Given the description of an element on the screen output the (x, y) to click on. 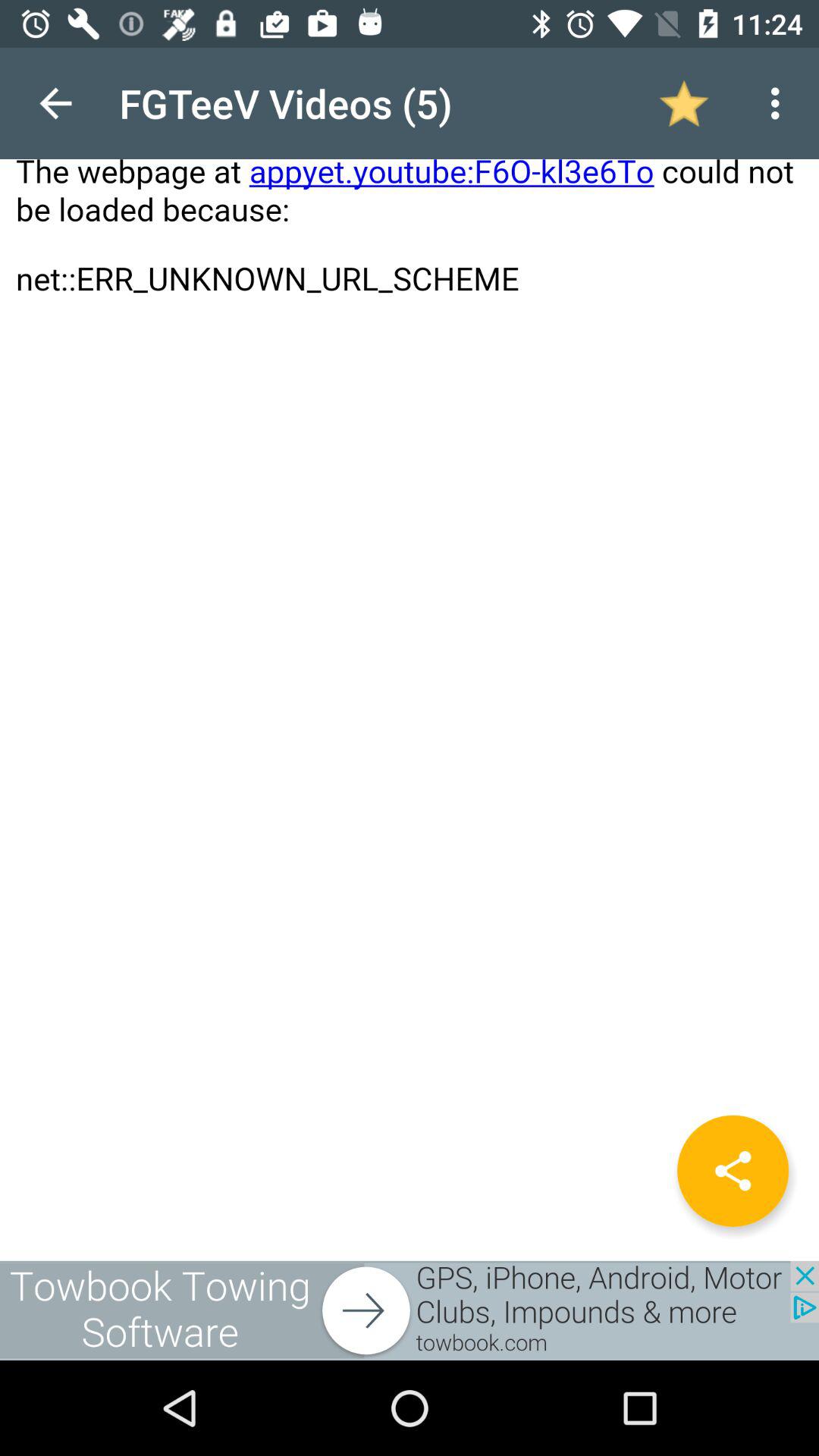
share this app (733, 1171)
